Given the description of an element on the screen output the (x, y) to click on. 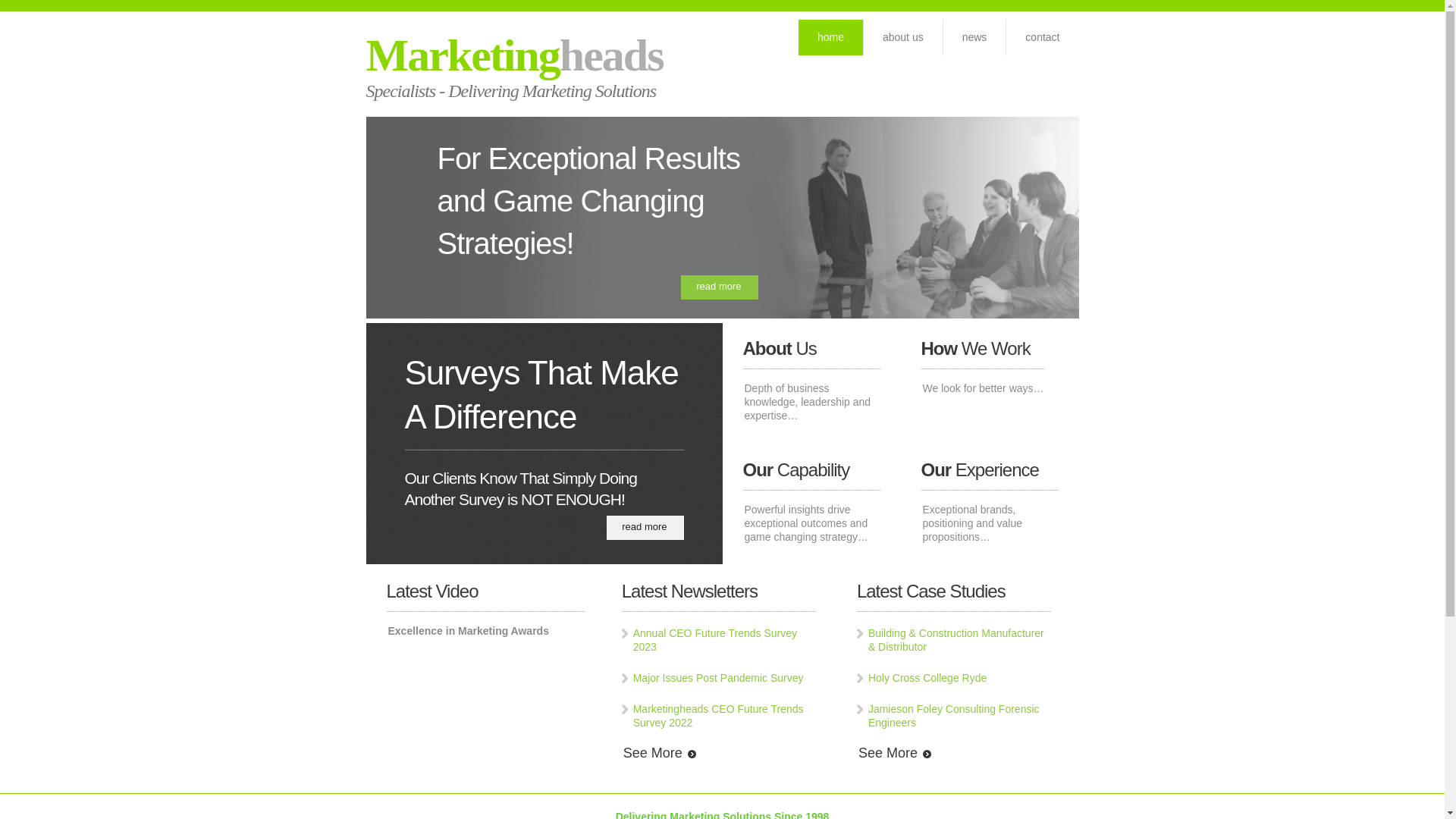
See More Element type: text (659, 752)
home Element type: text (830, 37)
See More Element type: text (894, 752)
Major Issues Post Pandemic Survey Element type: text (718, 677)
read more Element type: text (718, 287)
Holy Cross College Ryde Element type: text (927, 677)
Annual CEO Future Trends Survey 2023 Element type: text (715, 639)
news Element type: text (974, 37)
Jamieson Foley Consulting Forensic Engineers Element type: text (953, 715)
contact Element type: text (1042, 37)
about us Element type: text (902, 37)
read more Element type: text (644, 527)
Building & Construction Manufacturer & Distributor Element type: text (956, 639)
Marketingheads CEO Future Trends Survey 2022 Element type: text (718, 715)
Skip to main content Element type: text (48, 7)
